Given the description of an element on the screen output the (x, y) to click on. 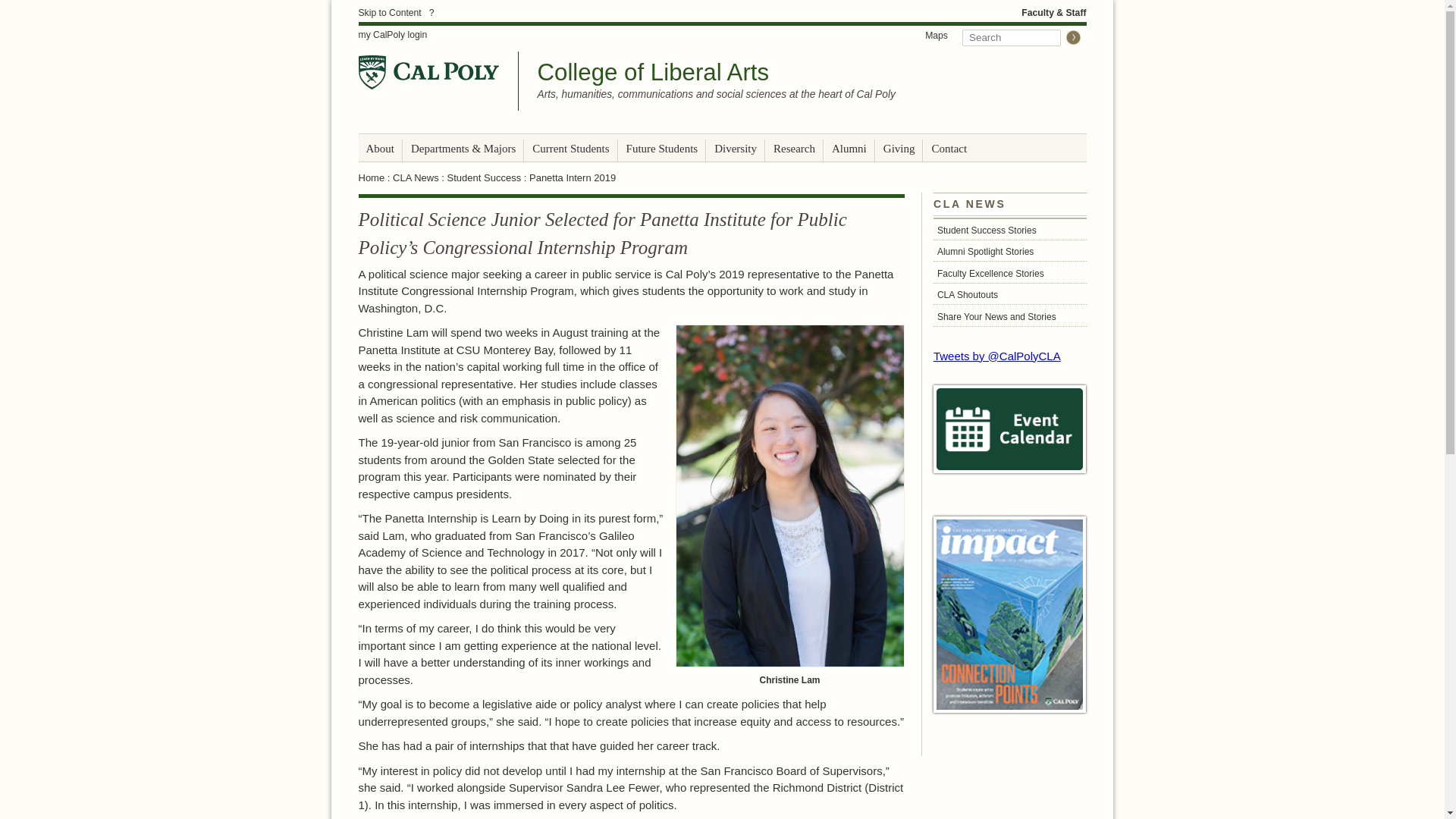
Search Form (1021, 36)
Search this site (1011, 37)
Submit Search Query (1072, 37)
skip to content (389, 12)
Maps (936, 35)
my CalPoly login (392, 34)
Skip to Content (389, 12)
Go to Cal Poly Home (427, 72)
my CalPoly login (392, 34)
